Given the description of an element on the screen output the (x, y) to click on. 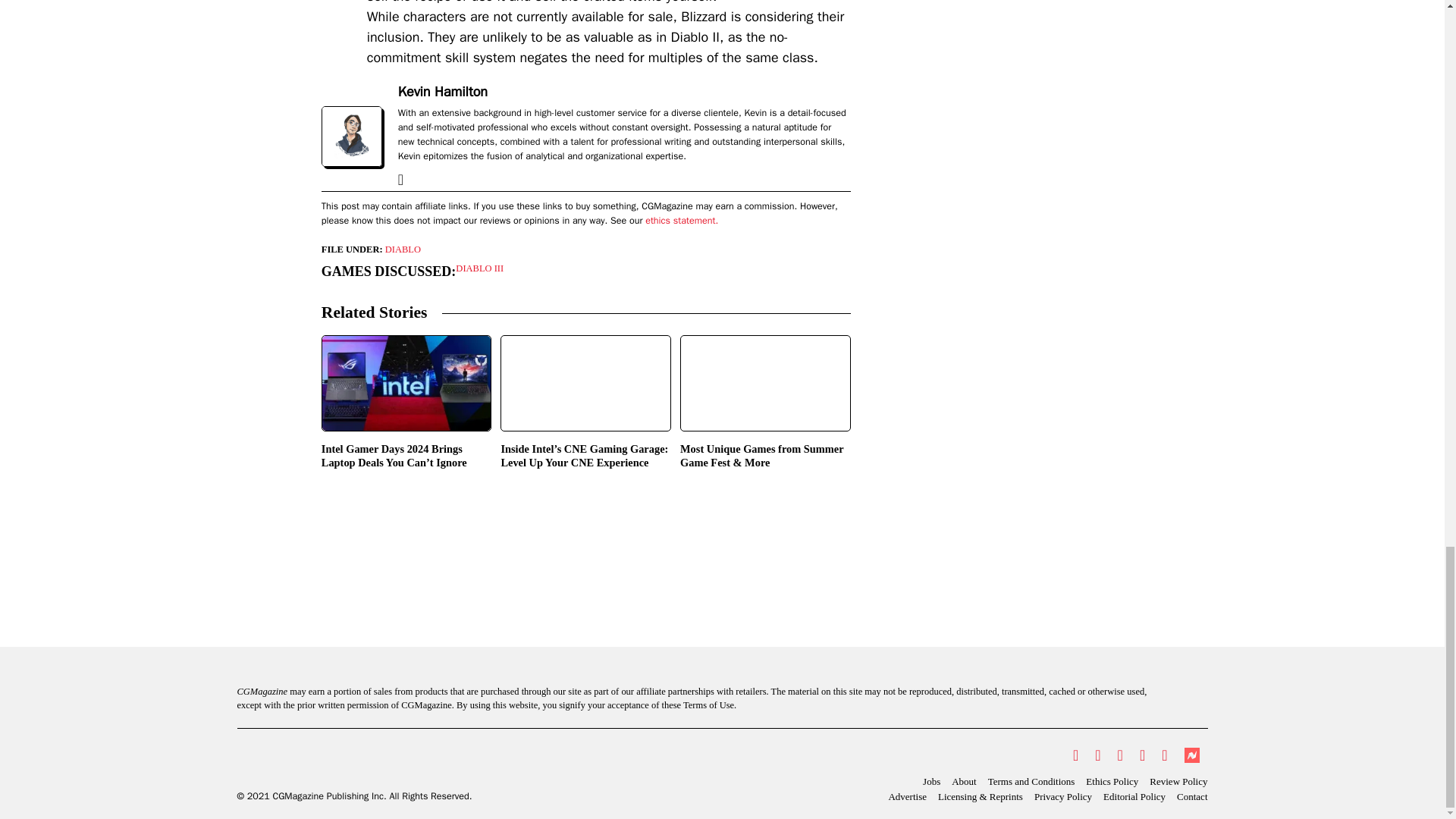
Facebook Page (1097, 754)
Twitter Profile (1075, 754)
Diablo III (479, 268)
YouTube Page (1142, 754)
NewsBreak (1190, 754)
Instagram Profile (1120, 754)
Flipboard Page (1163, 754)
Kevin Hamilton (442, 91)
CGMagazine (353, 762)
